Given the description of an element on the screen output the (x, y) to click on. 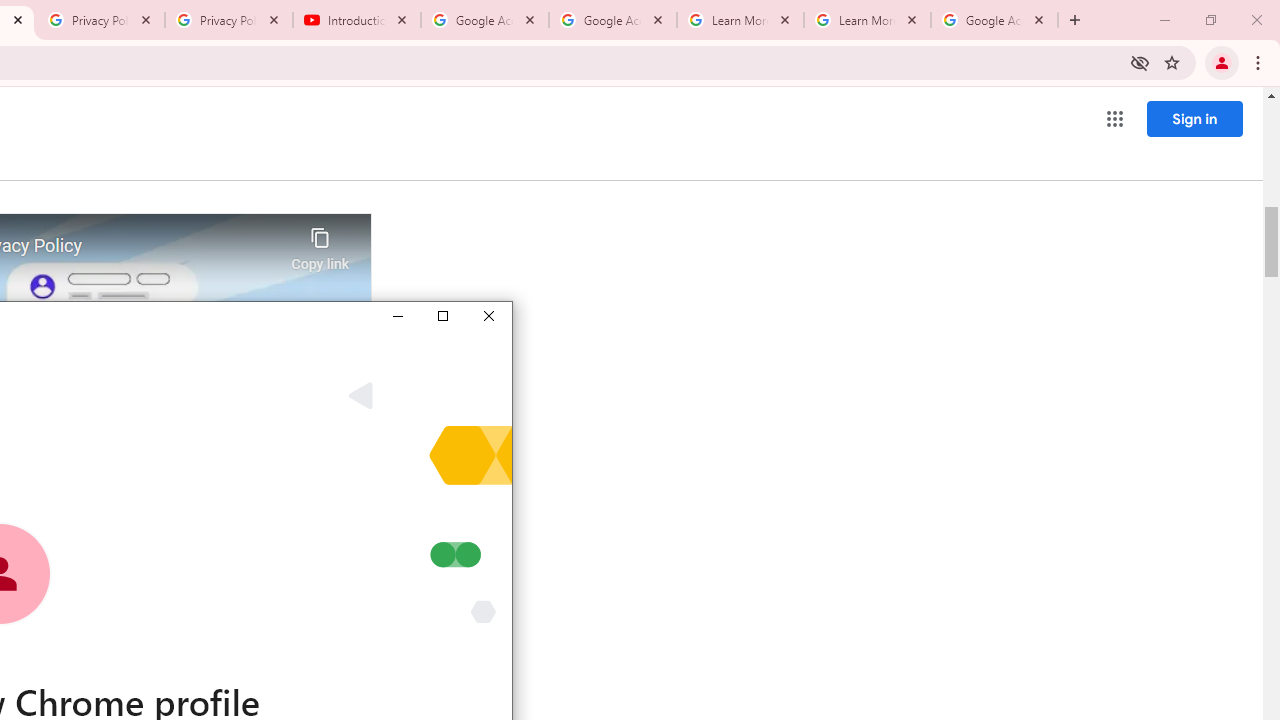
Copy link (319, 244)
Maximize (442, 316)
Google Account (994, 20)
Introduction | Google Privacy Policy - YouTube (357, 20)
Google Account Help (485, 20)
Google Account Help (613, 20)
